Given the description of an element on the screen output the (x, y) to click on. 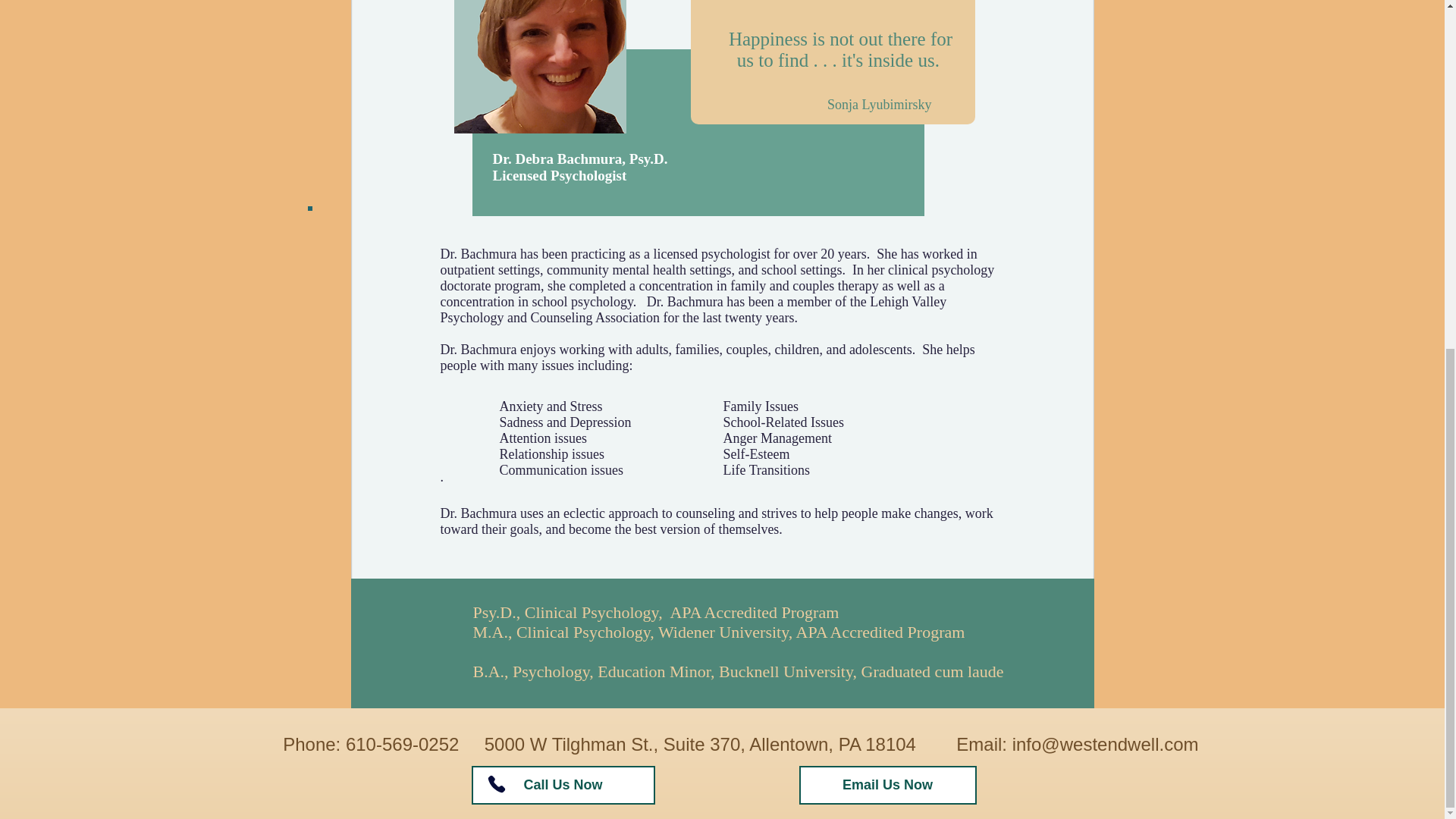
Email Us Now (887, 784)
Call Us Now (563, 784)
